Given the description of an element on the screen output the (x, y) to click on. 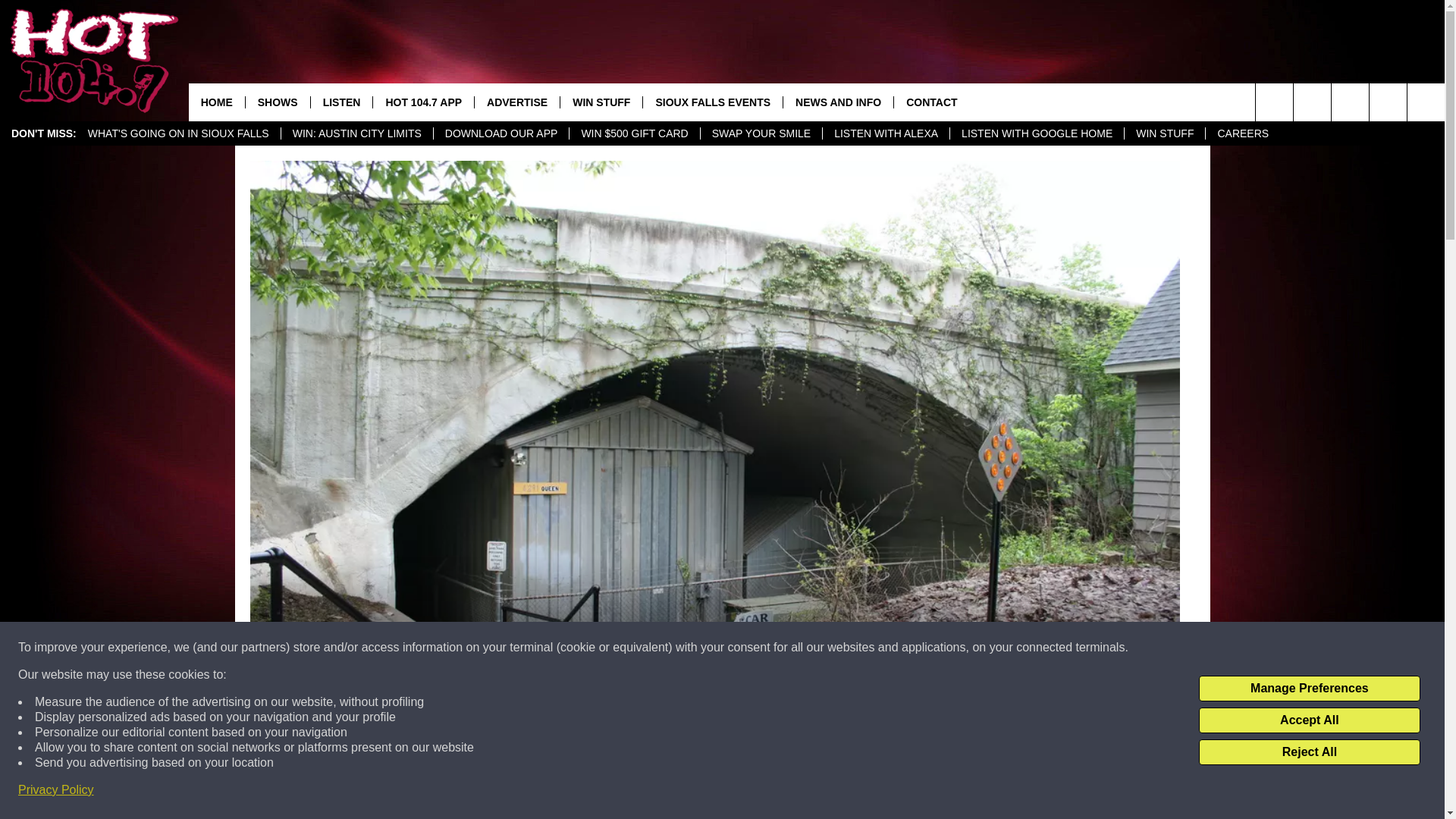
WIN STUFF (600, 102)
WIN: AUSTIN CITY LIMITS (356, 133)
Privacy Policy (55, 789)
HOME (216, 102)
DOWNLOAD OUR APP (500, 133)
WIN STUFF (1164, 133)
SHOWS (277, 102)
Share on Twitter (912, 791)
Manage Preferences (1309, 688)
LISTEN WITH ALEXA (885, 133)
LISTEN (341, 102)
SWAP YOUR SMILE (761, 133)
CAREERS (1242, 133)
WHAT'S GOING ON IN SIOUX FALLS (179, 133)
Reject All (1309, 751)
